Given the description of an element on the screen output the (x, y) to click on. 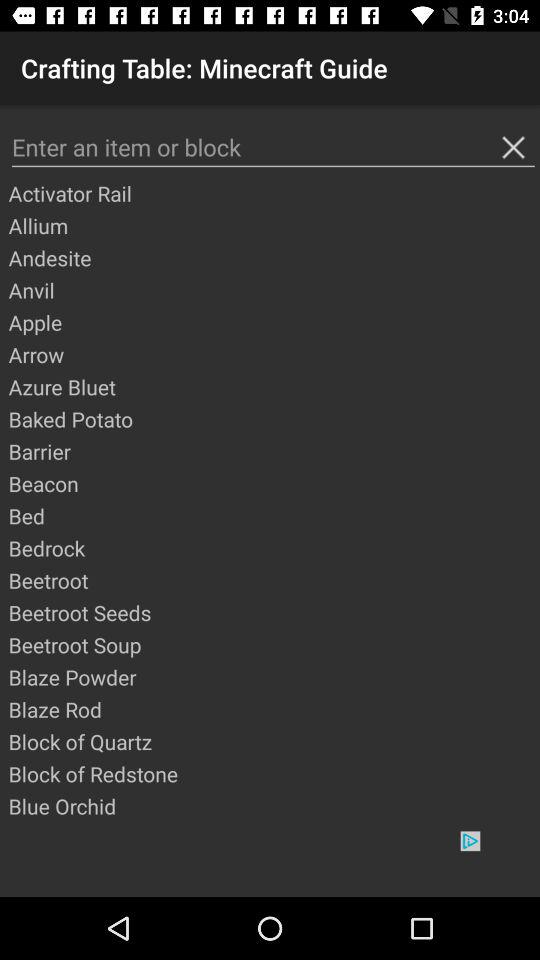
open bedrock item (273, 548)
